Given the description of an element on the screen output the (x, y) to click on. 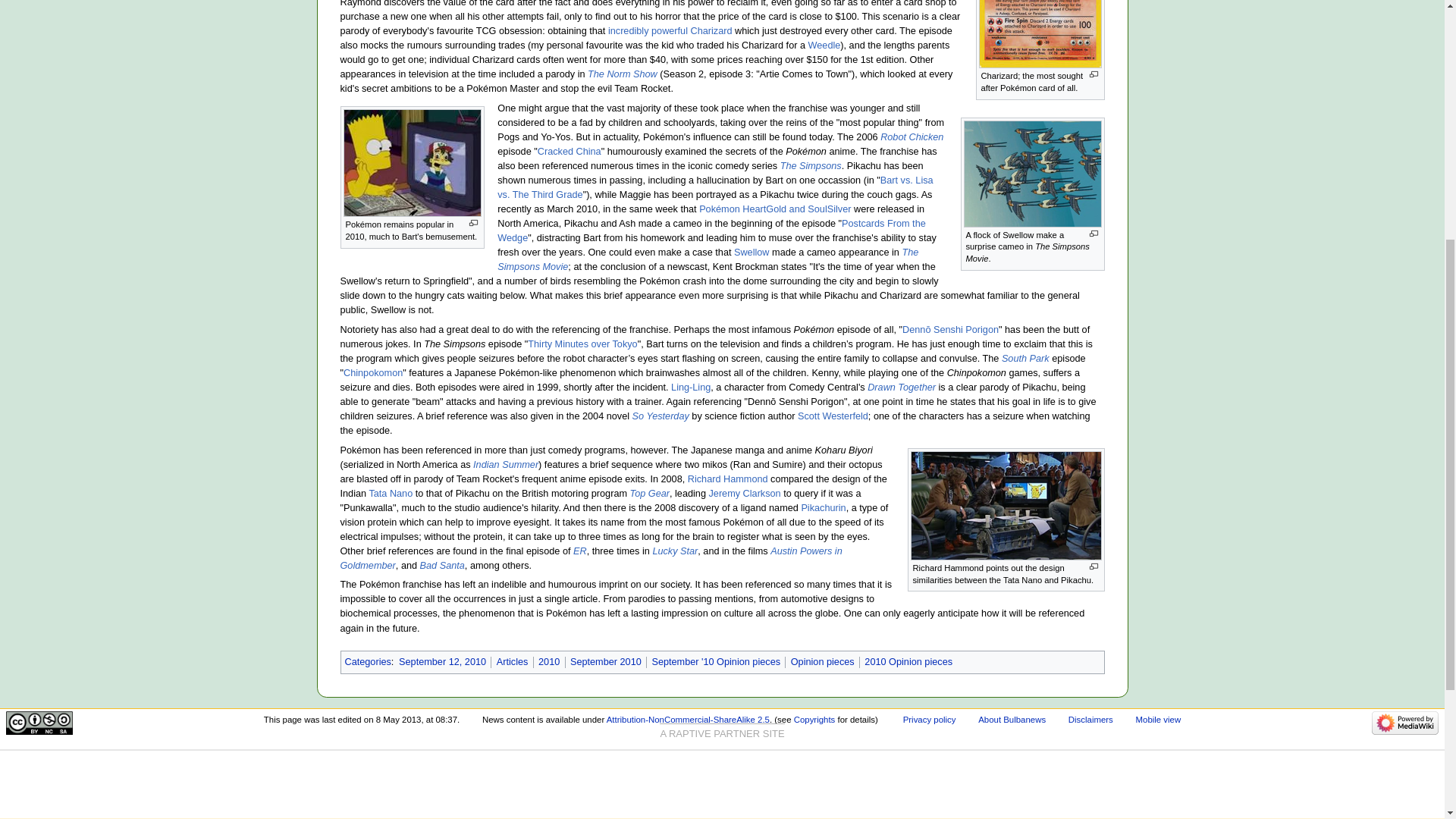
wp:Bart vs. Lisa vs. The Third Grade (715, 187)
Enlarge (473, 223)
wp:The Simpsons (810, 165)
wp:Robot Chicken (911, 136)
wp:List of Robot Chicken episodes (569, 151)
wp:Postcards From the Wedge (710, 230)
Enlarge (1093, 74)
Enlarge (1093, 234)
wp:The Norm Show (623, 73)
